Given the description of an element on the screen output the (x, y) to click on. 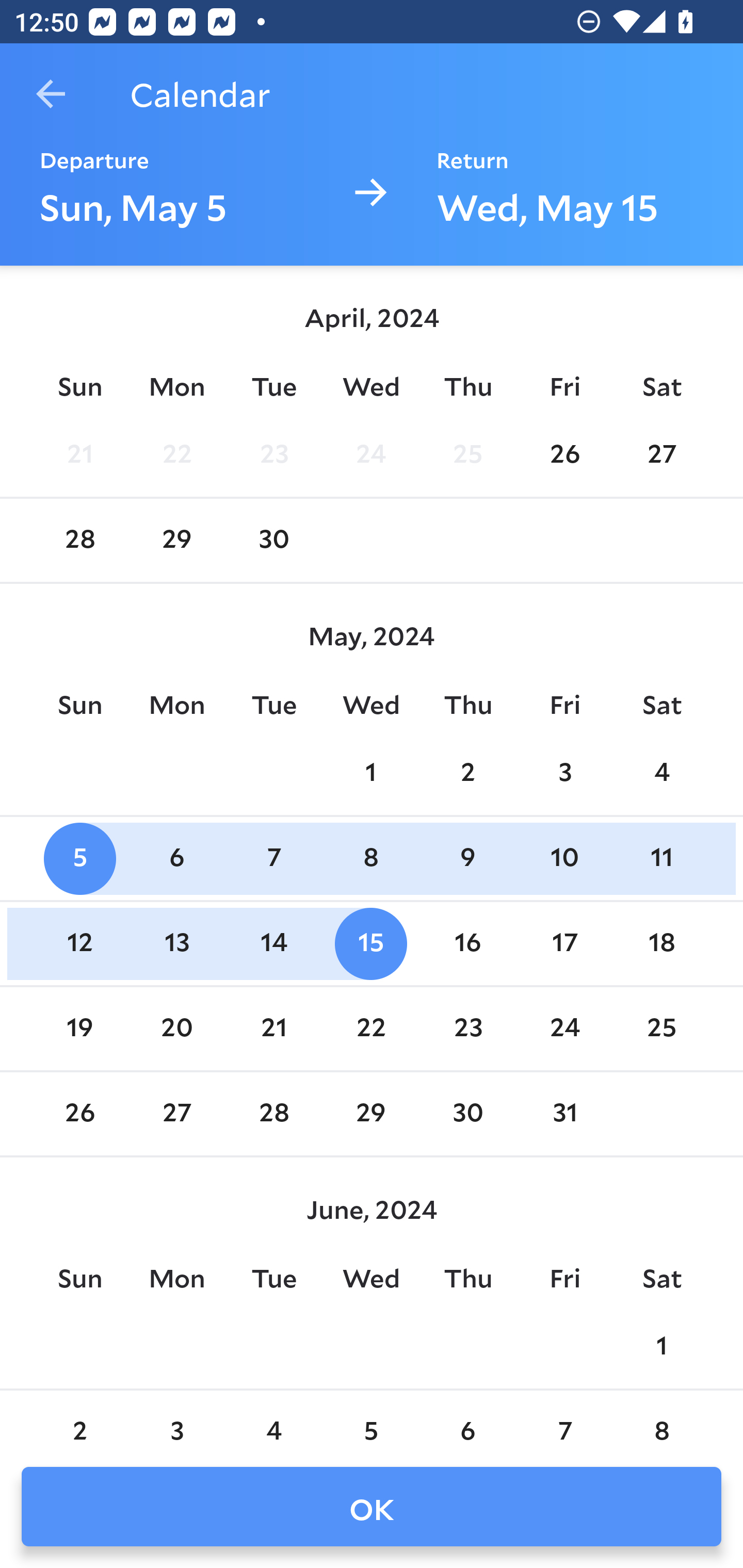
Navigate up (50, 93)
21 (79, 454)
22 (177, 454)
23 (273, 454)
24 (371, 454)
25 (467, 454)
26 (565, 454)
27 (661, 454)
28 (79, 540)
29 (177, 540)
30 (273, 540)
1 (371, 772)
2 (467, 772)
3 (565, 772)
4 (661, 772)
5 (79, 859)
6 (177, 859)
7 (273, 859)
8 (371, 859)
9 (467, 859)
10 (565, 859)
11 (661, 859)
12 (79, 943)
13 (177, 943)
14 (273, 943)
15 (371, 943)
16 (467, 943)
17 (565, 943)
18 (661, 943)
19 (79, 1028)
20 (177, 1028)
21 (273, 1028)
22 (371, 1028)
23 (467, 1028)
24 (565, 1028)
25 (661, 1028)
26 (79, 1114)
27 (177, 1114)
28 (273, 1114)
29 (371, 1114)
30 (467, 1114)
31 (565, 1114)
1 (661, 1346)
2 (79, 1420)
3 (177, 1420)
4 (273, 1420)
5 (371, 1420)
6 (467, 1420)
7 (565, 1420)
8 (661, 1420)
OK (371, 1506)
